Given the description of an element on the screen output the (x, y) to click on. 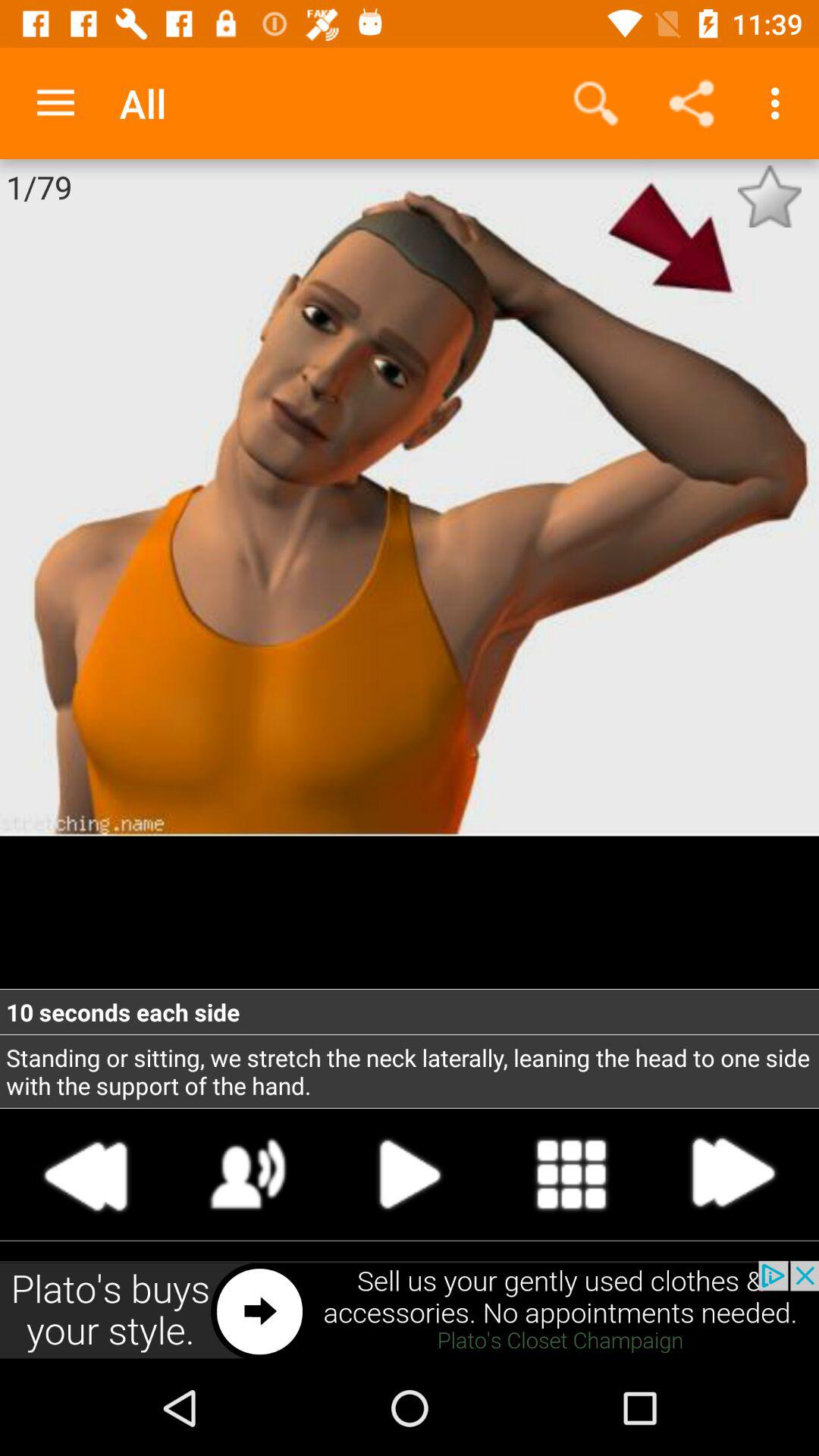
go to play button (409, 1174)
